Given the description of an element on the screen output the (x, y) to click on. 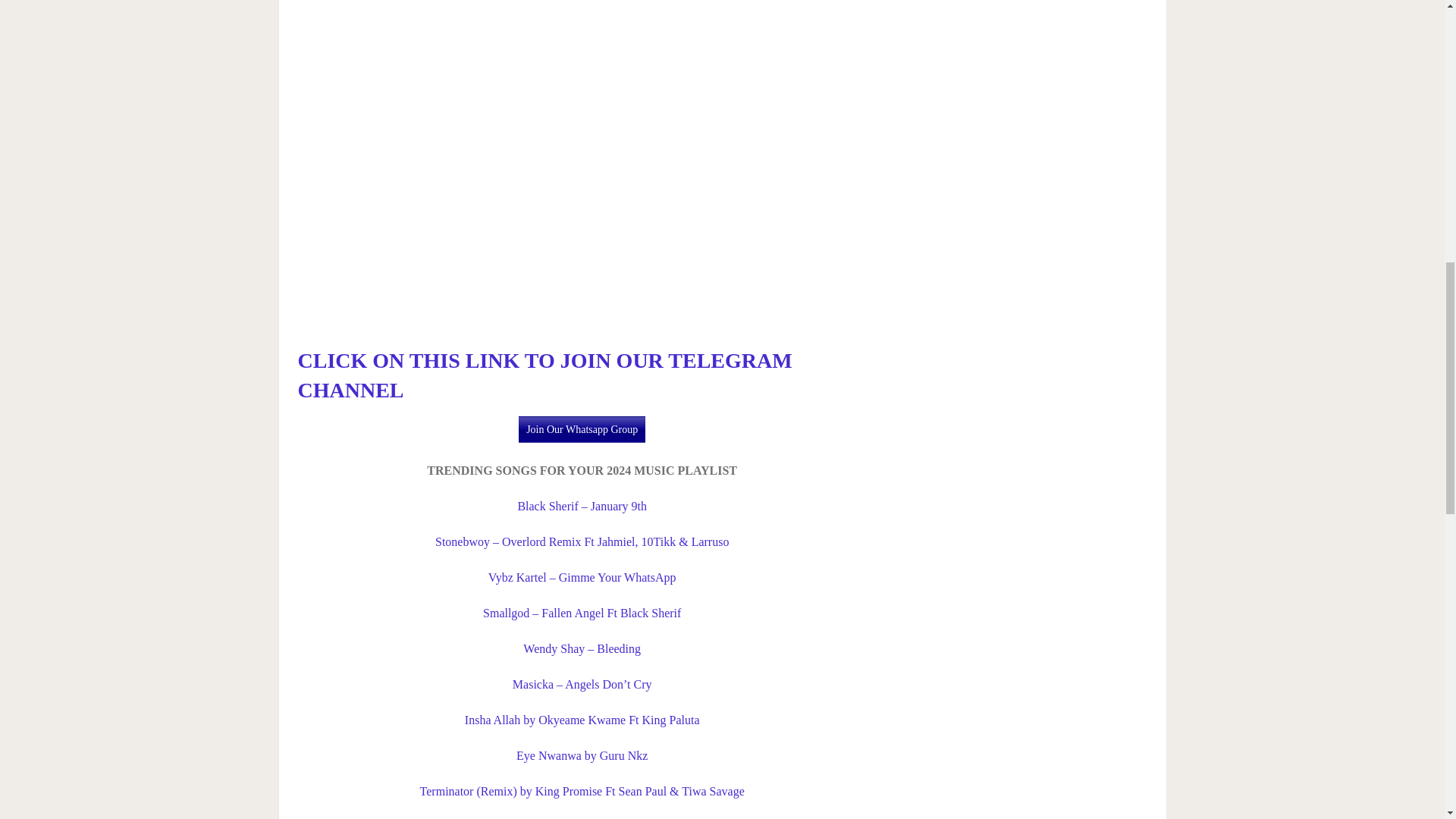
Insha Allah by Okyeame Kwame Ft King Paluta (582, 719)
Join Our Whatsapp Group (581, 429)
Eye Nwanwa by Guru Nkz (581, 755)
CLICK ON THIS LINK TO JOIN OUR TELEGRAM CHANNEL (544, 375)
